Given the description of an element on the screen output the (x, y) to click on. 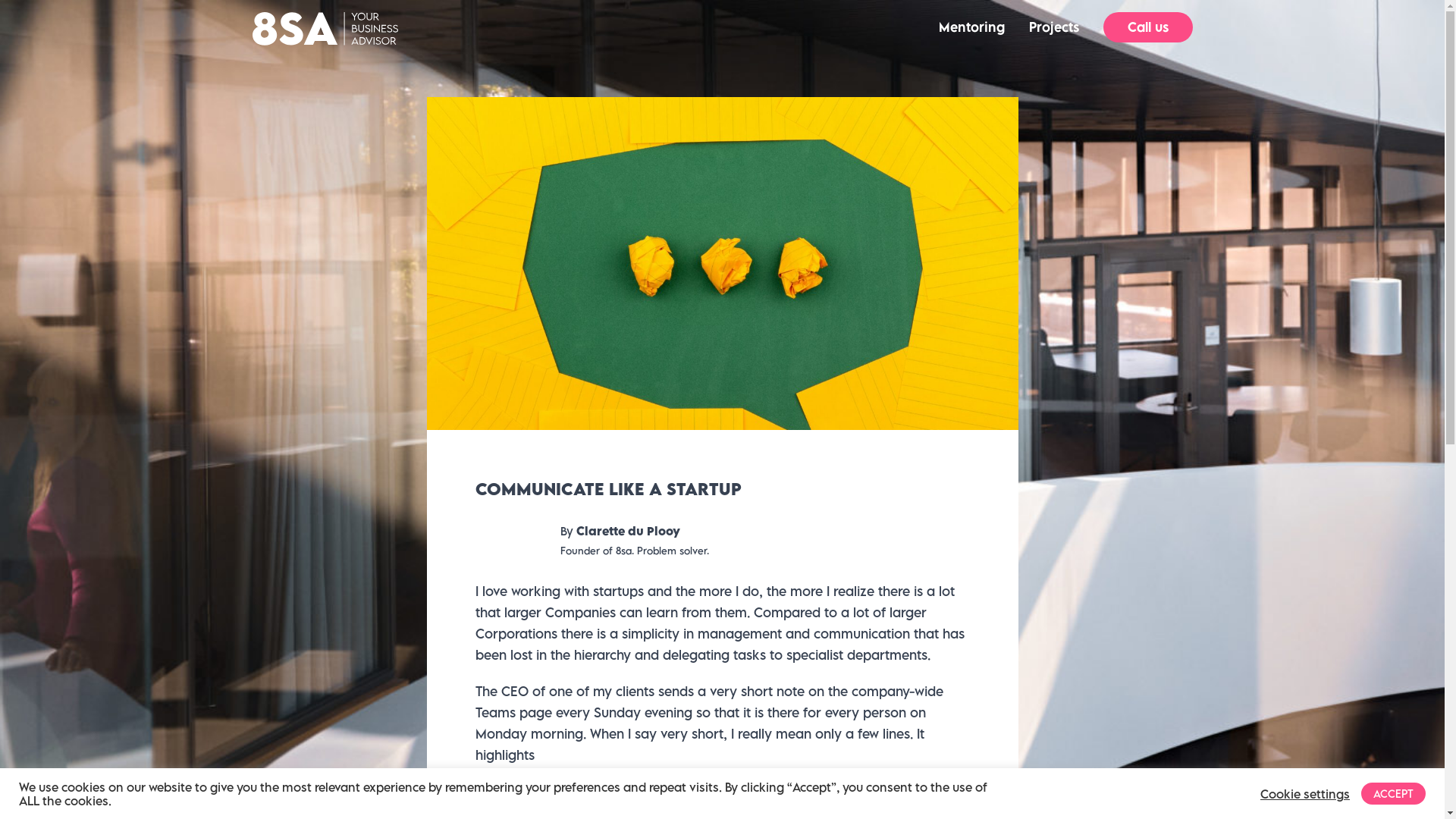
ACCEPT Element type: text (1393, 793)
Projects Element type: text (1053, 27)
Call us Element type: text (1147, 27)
Cookie settings Element type: text (1304, 793)
Mentoring Element type: text (971, 27)
